Given the description of an element on the screen output the (x, y) to click on. 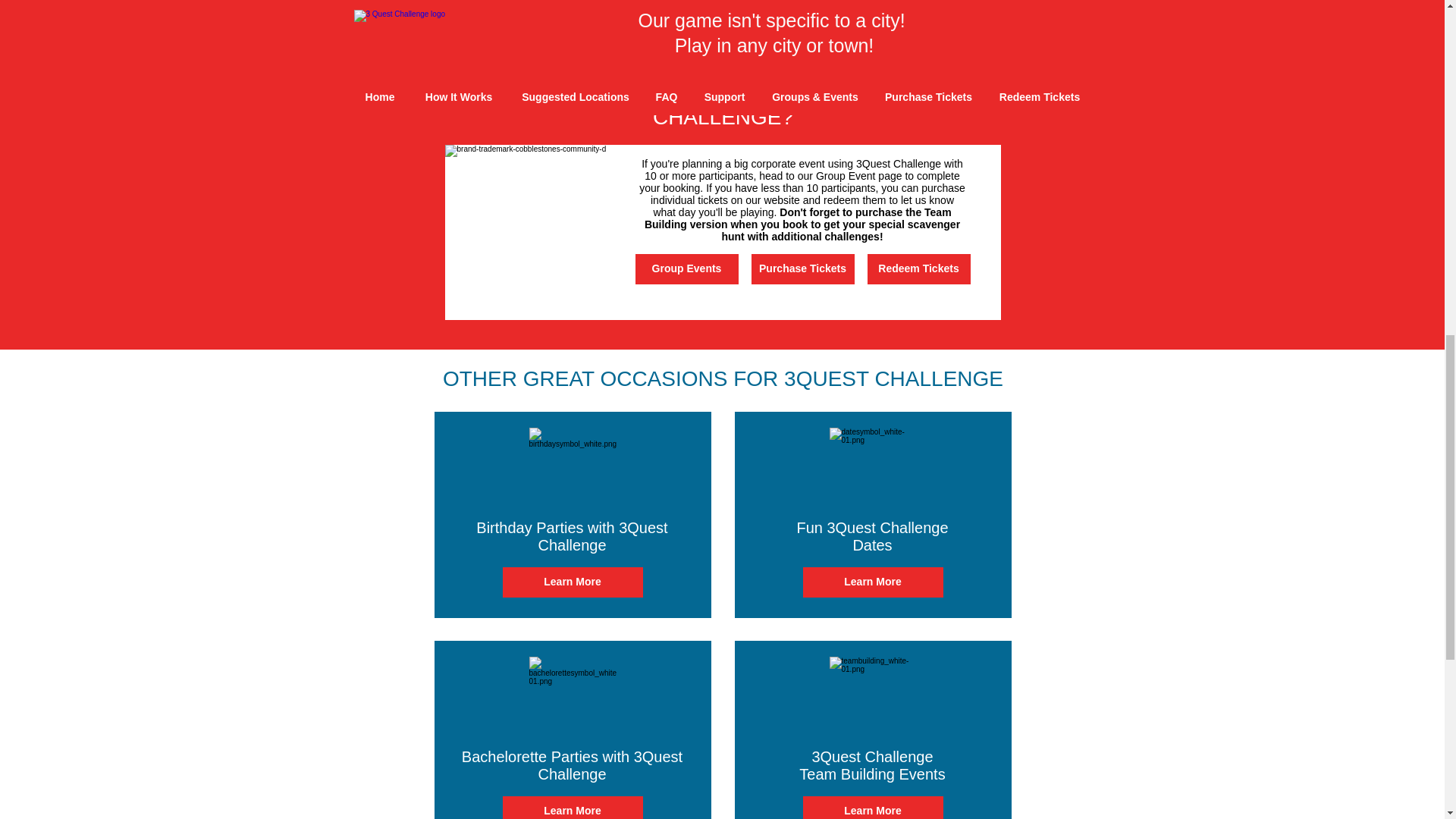
Redeem Tickets (919, 268)
Learn More (572, 582)
Learn More (572, 807)
Purchase Tickets (802, 268)
Group Events (686, 268)
Learn More (872, 807)
Learn More (872, 582)
